Given the description of an element on the screen output the (x, y) to click on. 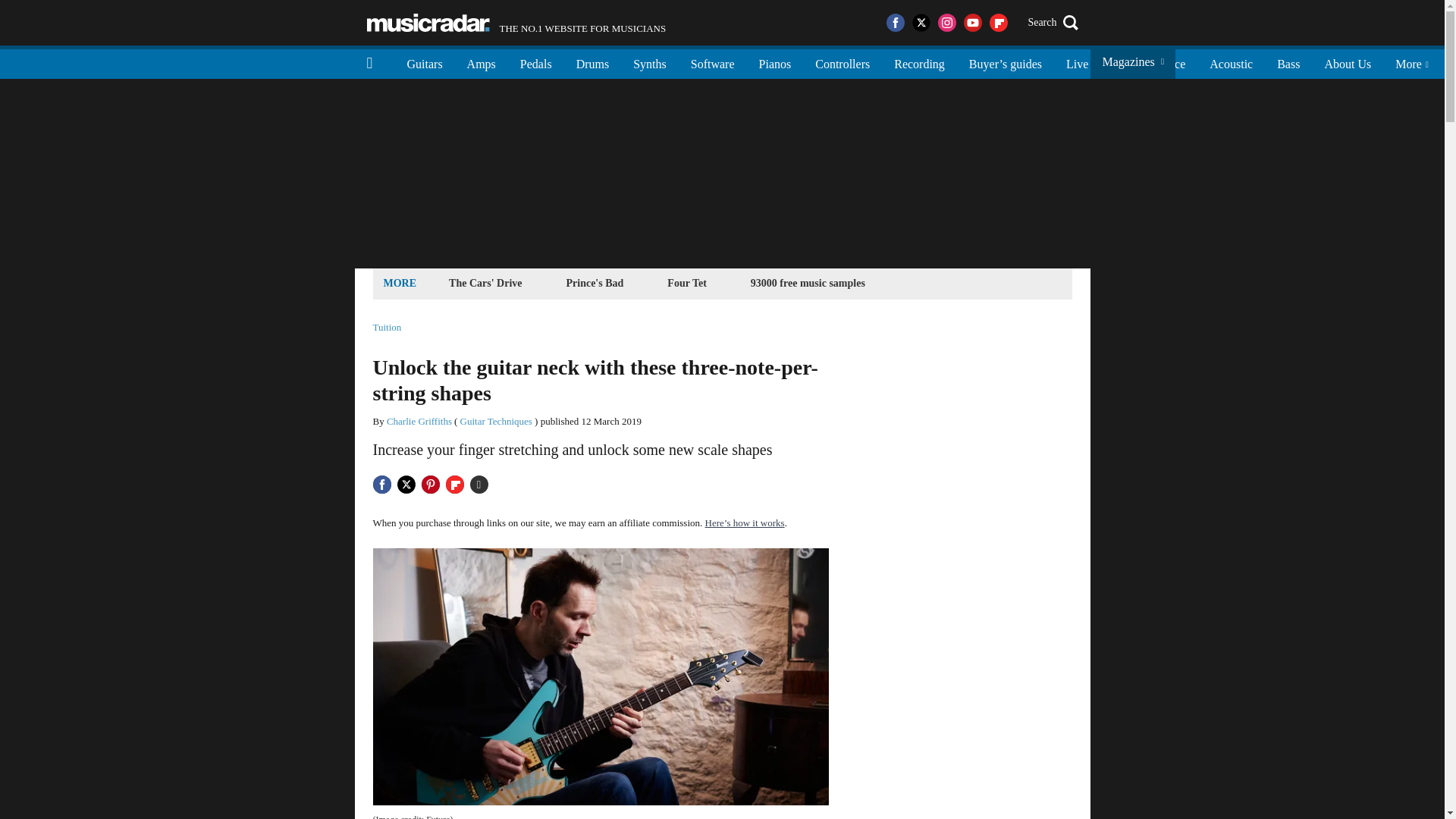
Tuition (516, 22)
Pianos (386, 327)
Bass (774, 61)
About Us (1288, 61)
Live (1347, 61)
Software (1077, 61)
Pedals (712, 61)
Controllers (536, 61)
Prince's Bad (842, 61)
Charlie Griffiths (594, 282)
Recording (419, 420)
Drums (919, 61)
Music Radar (592, 61)
The Cars' Drive (427, 22)
